Given the description of an element on the screen output the (x, y) to click on. 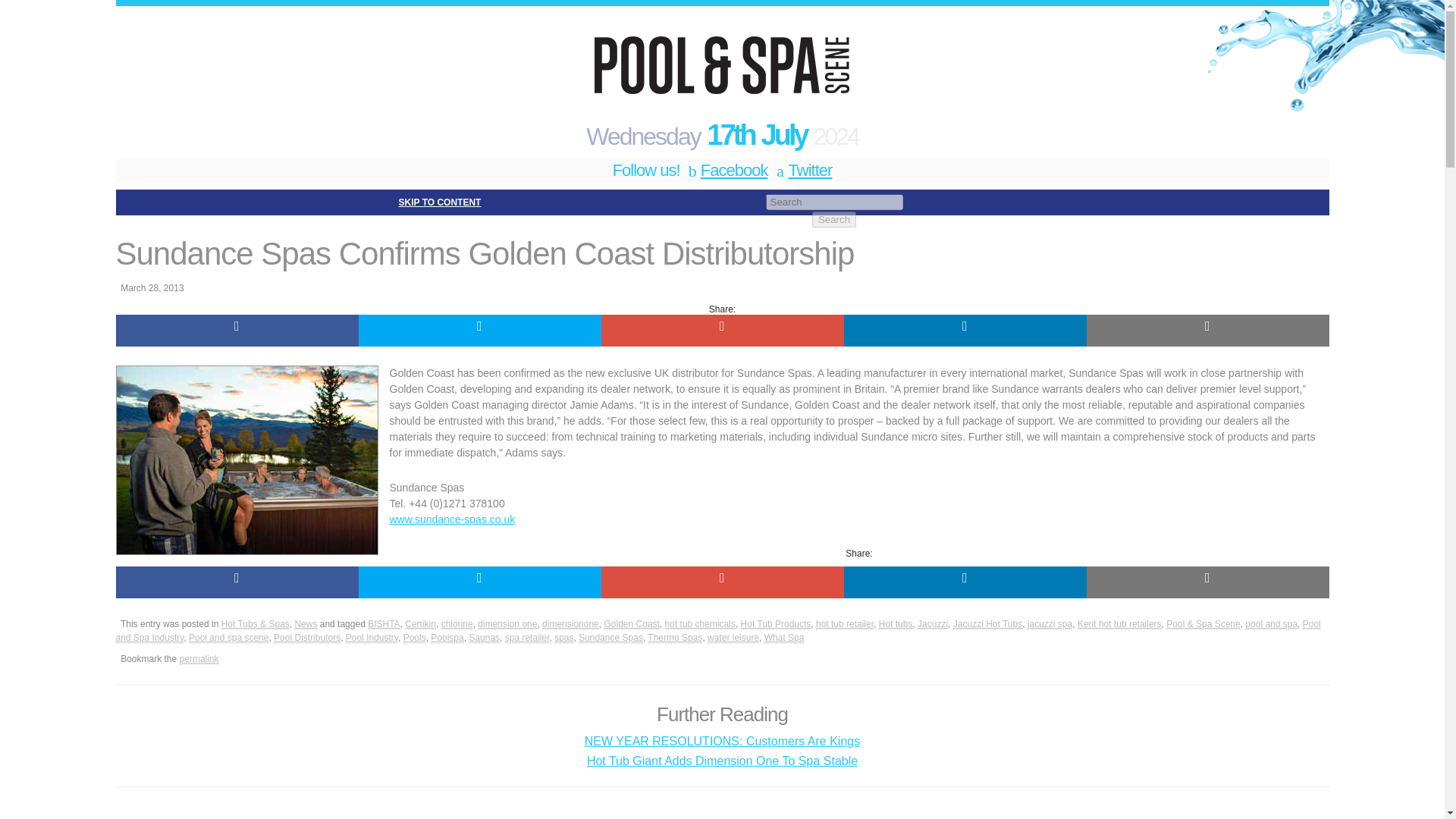
dimension one (507, 624)
dimensionone (569, 624)
hot tub retailer (844, 624)
SKIP TO CONTENT (439, 202)
Hot tubs (895, 624)
Search for: (833, 201)
The Voice of the Pool, Spa and Water Leisure Industries (721, 62)
Certikin (419, 624)
News (305, 624)
SUPPLIERS DIRECTORY (640, 222)
ADVERTISE (411, 222)
www.sundance-spas.co.uk (452, 519)
Search (834, 219)
Facebook (726, 169)
HOME (146, 222)
